Given the description of an element on the screen output the (x, y) to click on. 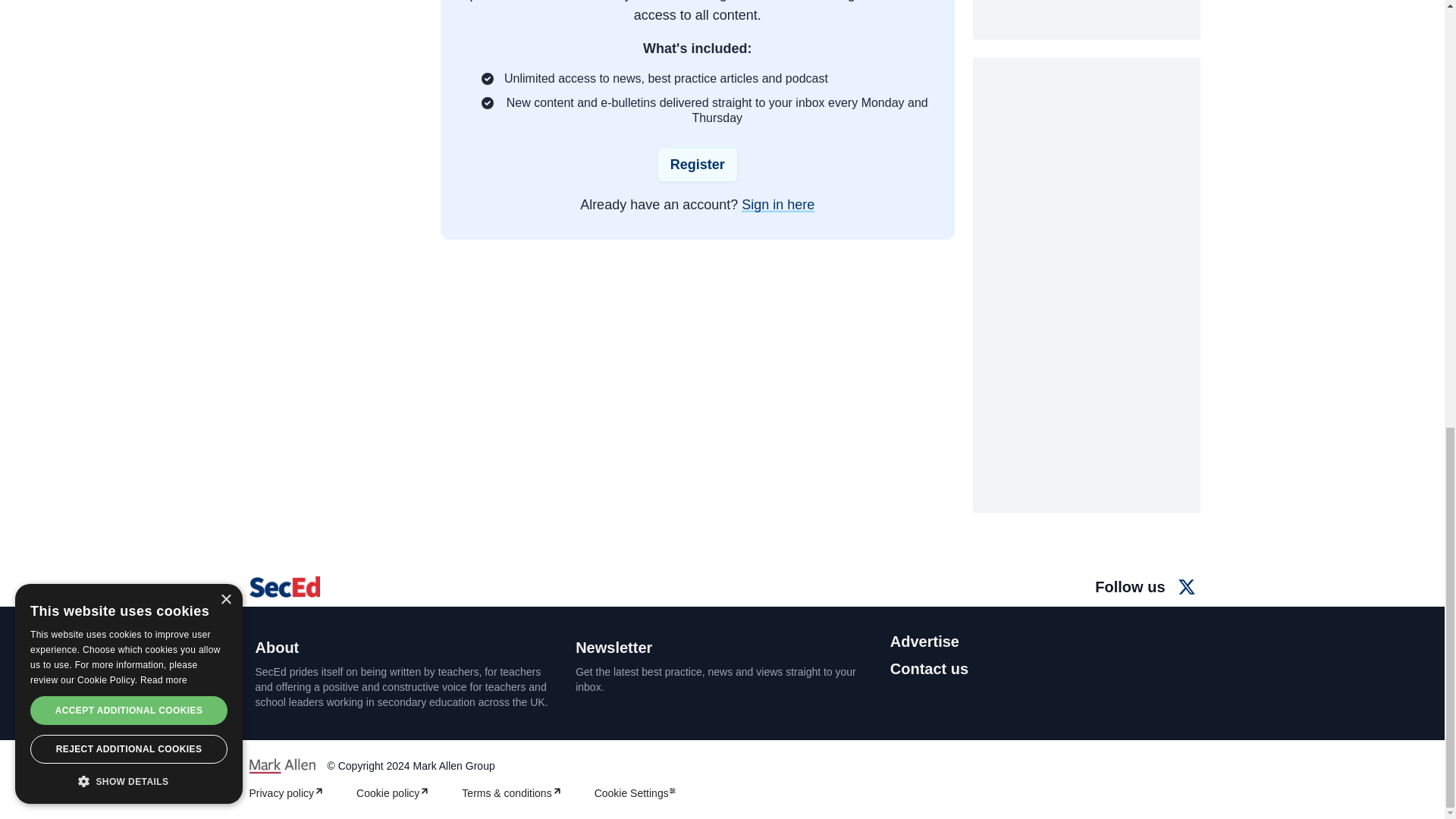
3rd party ad content (1085, 19)
